Given the description of an element on the screen output the (x, y) to click on. 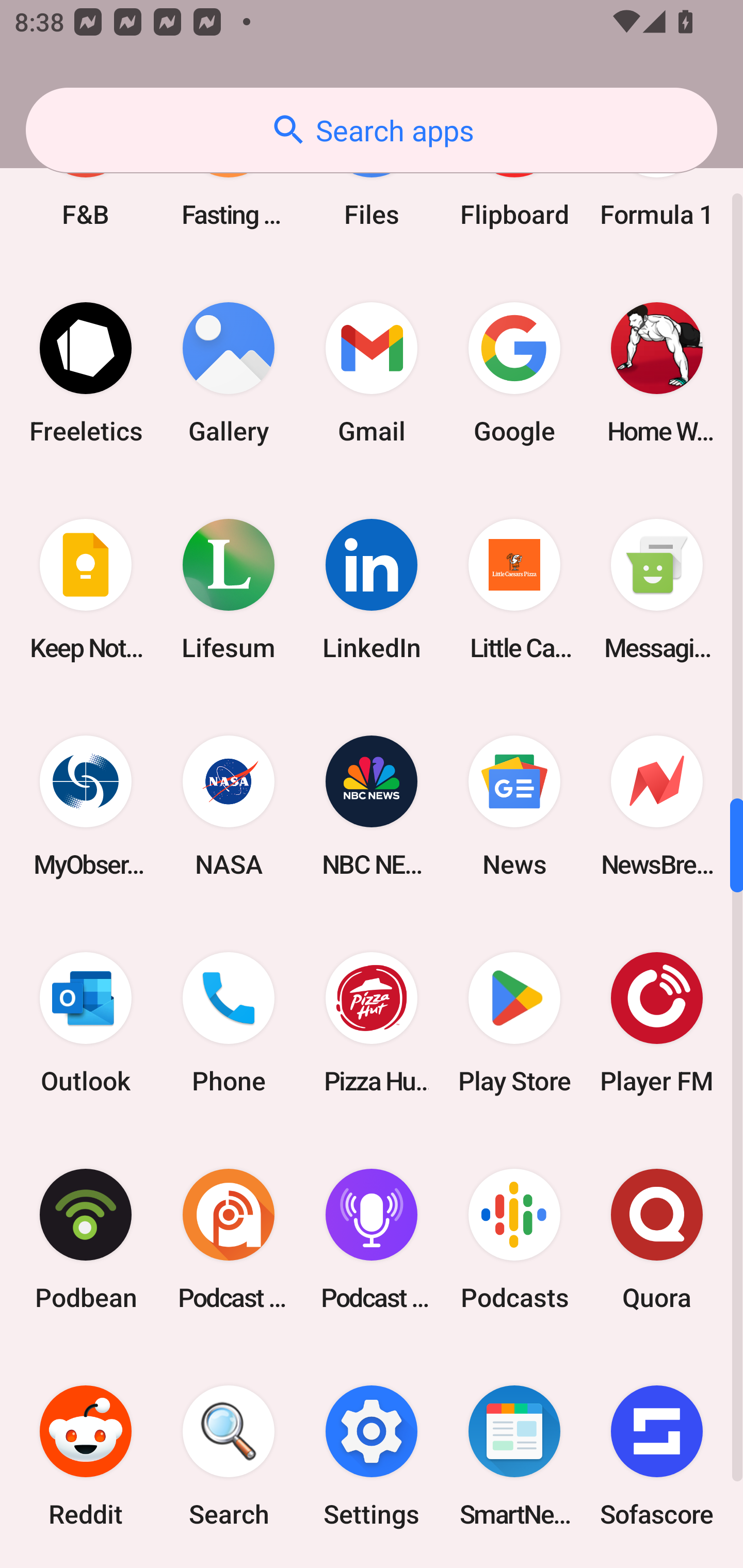
  Search apps (371, 130)
Freeletics (85, 372)
Gallery (228, 372)
Gmail (371, 372)
Google (514, 372)
Home Workout (656, 372)
Keep Notes (85, 589)
Lifesum (228, 589)
LinkedIn (371, 589)
Little Caesars Pizza (514, 589)
Messaging (656, 589)
MyObservatory (85, 805)
NASA (228, 805)
NBC NEWS (371, 805)
News (514, 805)
NewsBreak (656, 805)
Outlook (85, 1022)
Phone (228, 1022)
Pizza Hut HK & Macau (371, 1022)
Play Store (514, 1022)
Player FM (656, 1022)
Podbean (85, 1239)
Podcast Addict (228, 1239)
Podcast Player (371, 1239)
Podcasts (514, 1239)
Quora (656, 1239)
Reddit (85, 1456)
Search (228, 1456)
Settings (371, 1456)
SmartNews (514, 1456)
Sofascore (656, 1456)
Spotify (85, 1566)
Superuser (228, 1566)
Tasks (371, 1566)
The Weather Channel (514, 1566)
TickTick (656, 1566)
